Given the description of an element on the screen output the (x, y) to click on. 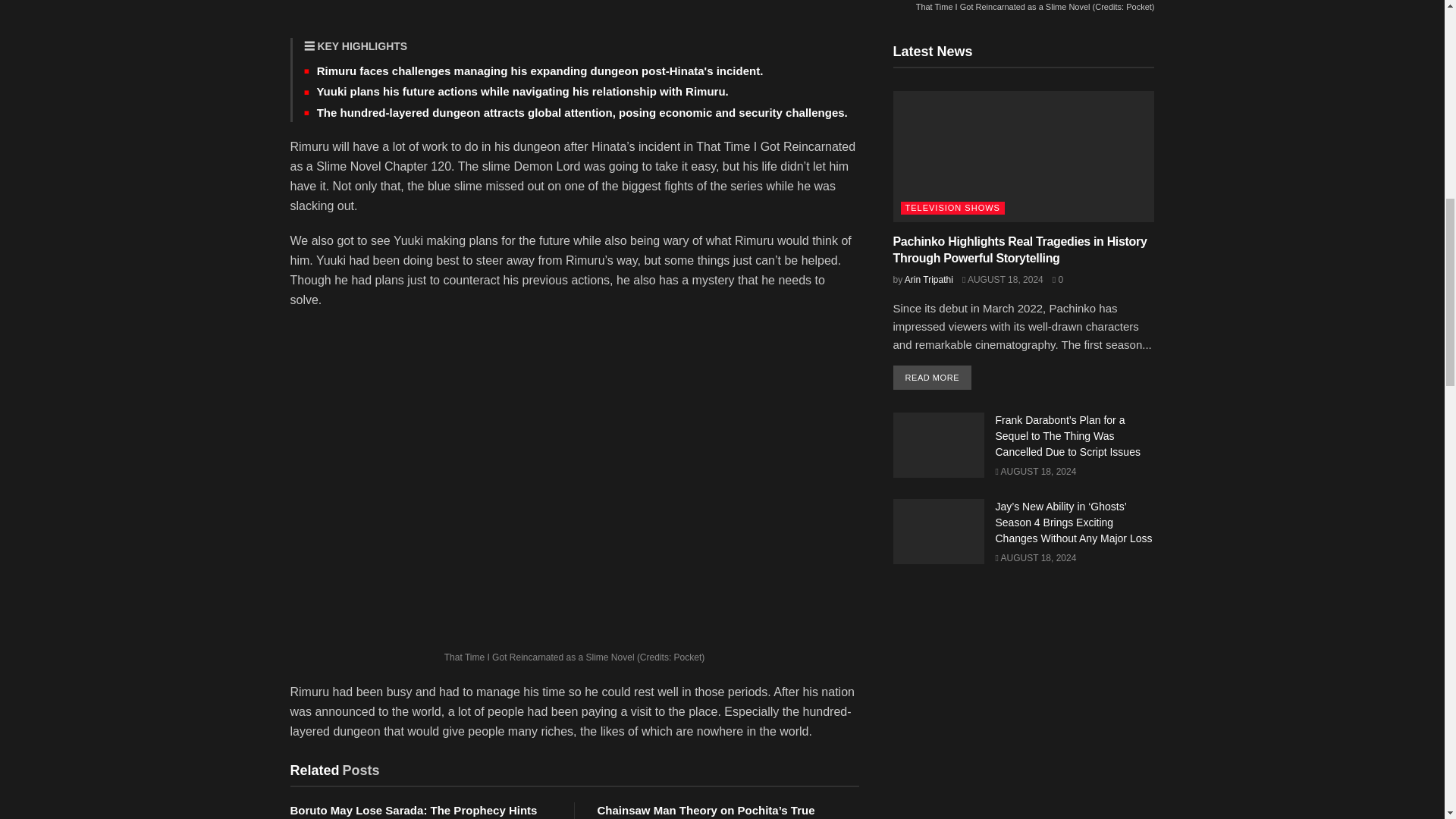
Arin Tripathi (928, 279)
AUGUST 18, 2024 (1002, 279)
TELEVISION SHOWS (952, 207)
0 (1057, 279)
